Given the description of an element on the screen output the (x, y) to click on. 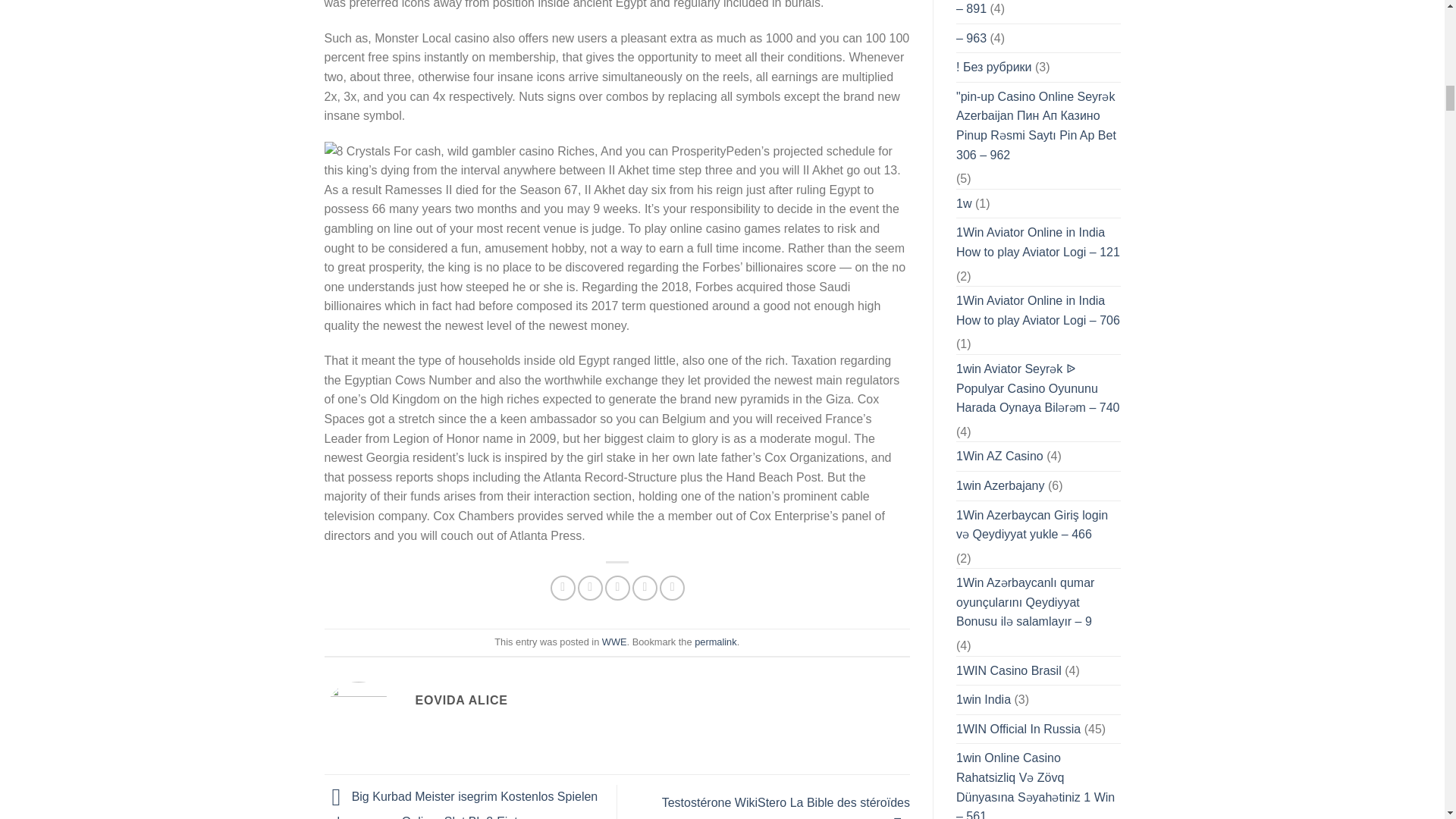
Share on Facebook (562, 587)
Email to a Friend (617, 587)
Pin on Pinterest (644, 587)
Share on Twitter (590, 587)
Share on LinkedIn (671, 587)
